Given the description of an element on the screen output the (x, y) to click on. 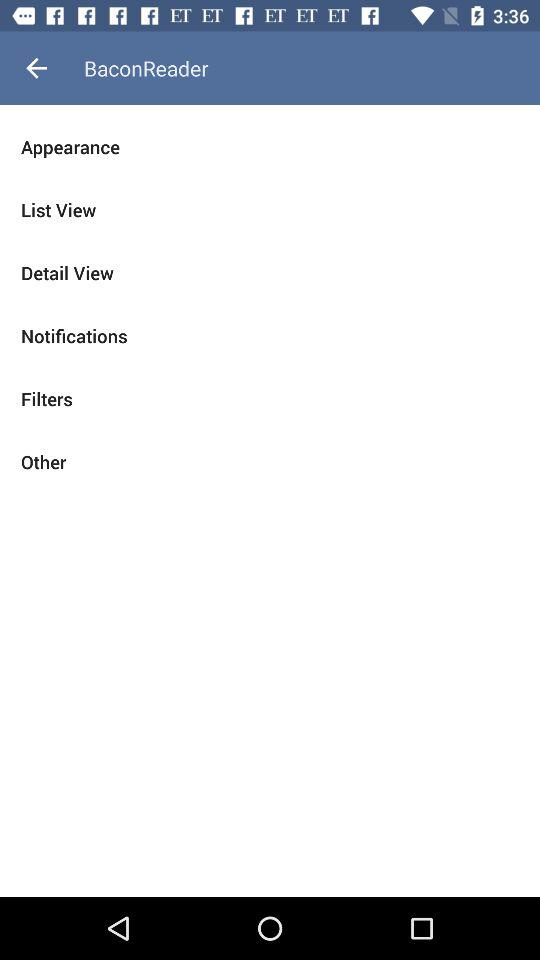
turn on item below appearance item (270, 209)
